Given the description of an element on the screen output the (x, y) to click on. 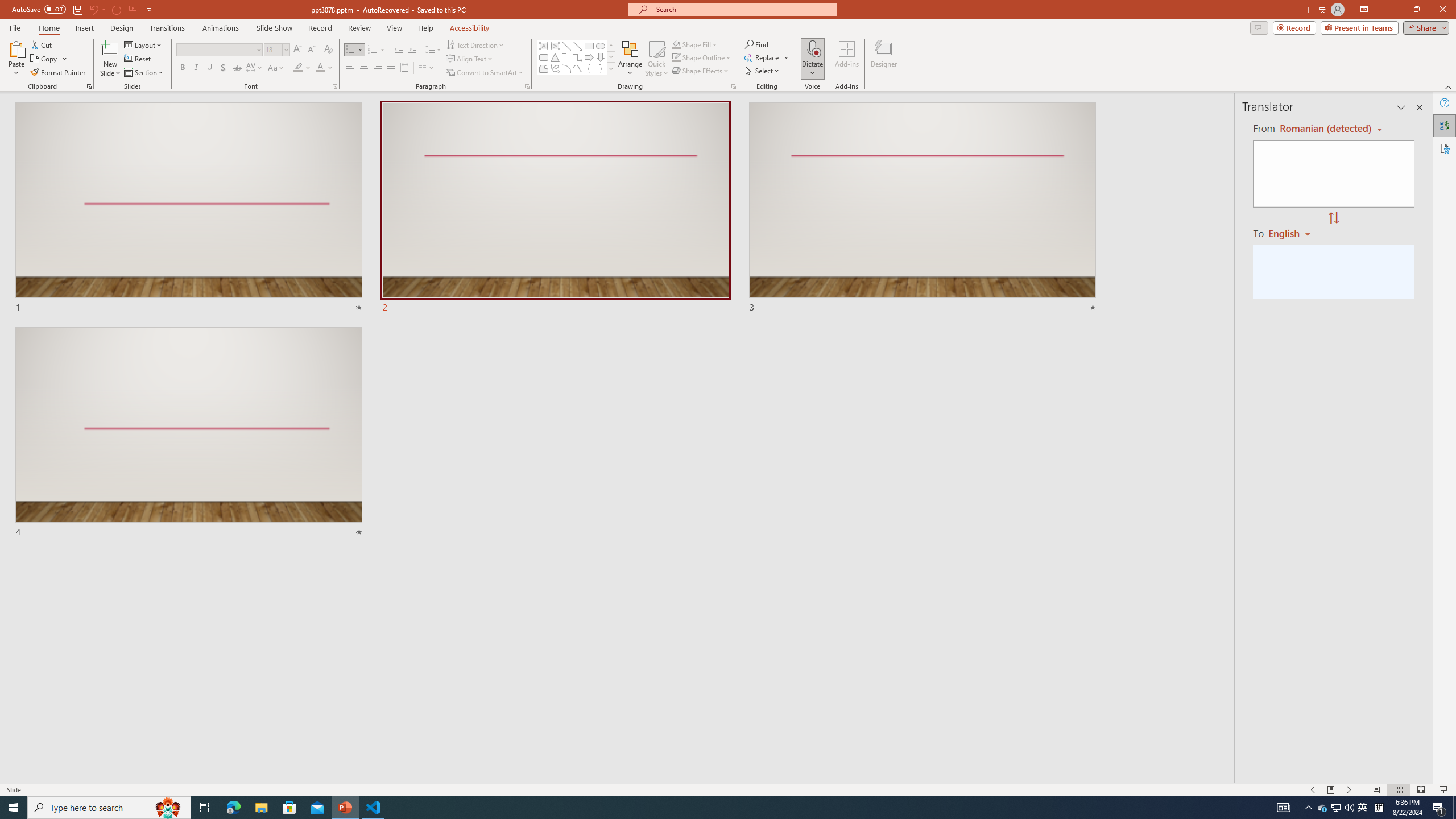
Increase Font Size (297, 49)
Slide Show (273, 28)
Customize Quick Access Toolbar (149, 9)
New Slide (110, 48)
Reset (138, 58)
Record (320, 28)
